Given the description of an element on the screen output the (x, y) to click on. 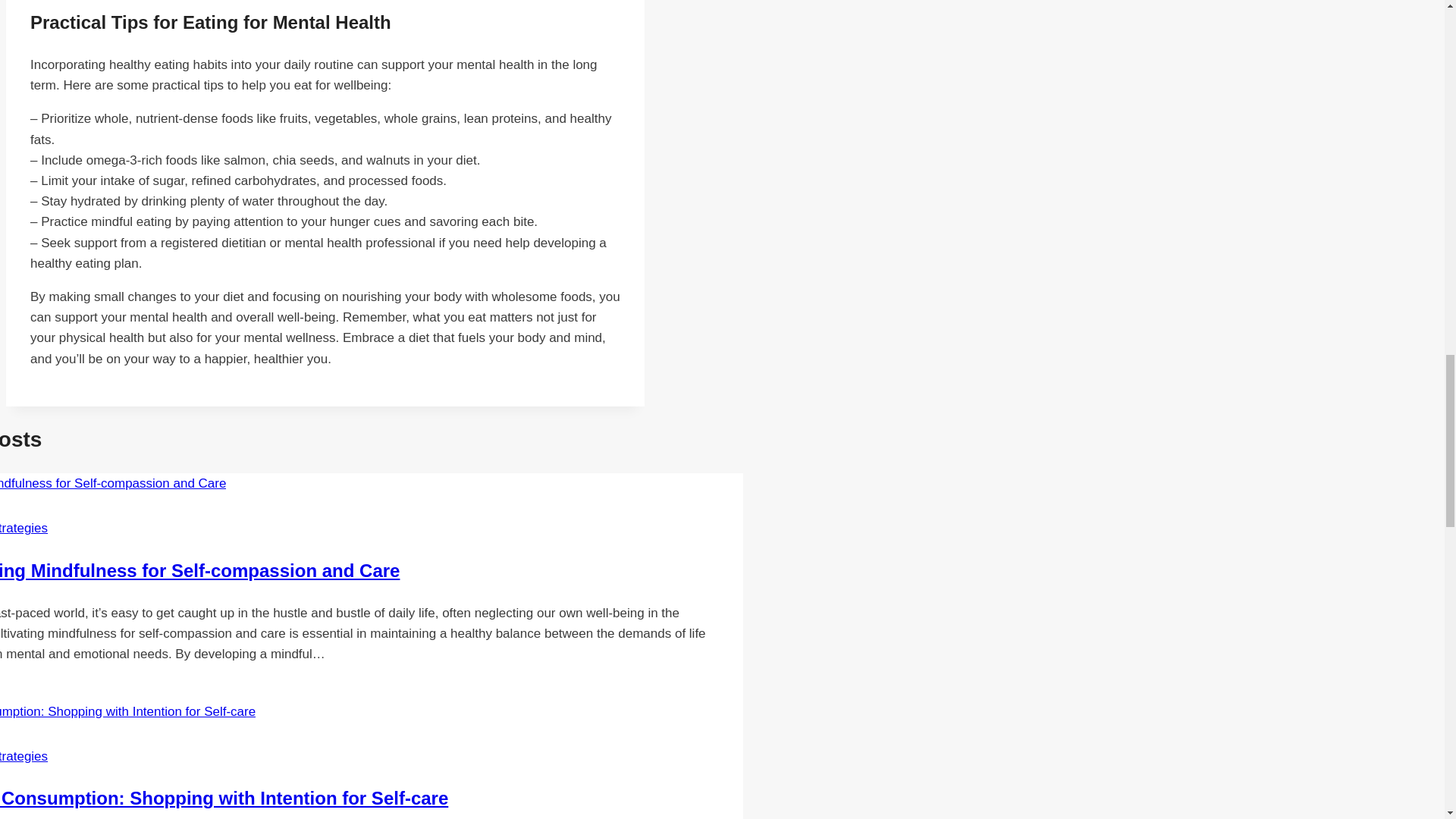
Self-Care Strategies (24, 527)
Mindful Consumption: Shopping with Intention for Self-care (224, 797)
Self-Care Strategies (24, 756)
Cultivating Mindfulness for Self-compassion and Care (199, 570)
